Given the description of an element on the screen output the (x, y) to click on. 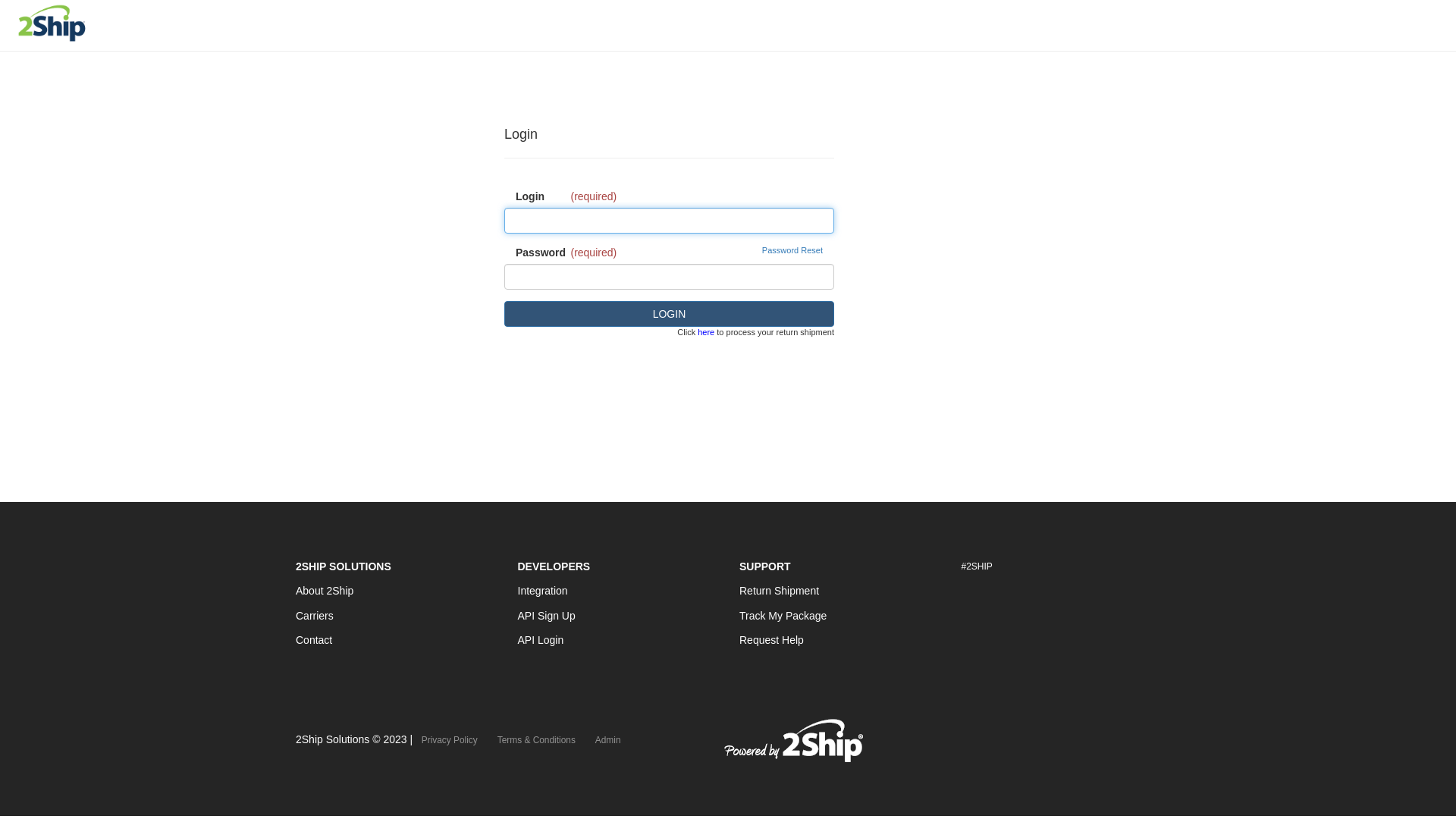
Admin Element type: text (608, 739)
Carriers Element type: text (314, 615)
API Login Element type: text (540, 639)
here Element type: text (705, 331)
Contact Element type: text (313, 639)
Password Reset Element type: text (792, 250)
Request Help Element type: text (771, 639)
Integration Element type: text (542, 590)
Track My Package Element type: text (782, 615)
Terms & Conditions Element type: text (536, 739)
LOGIN Element type: text (669, 313)
API Sign Up Element type: text (545, 615)
Privacy Policy Element type: text (449, 739)
Return Shipment Element type: text (779, 590)
About 2Ship Element type: text (324, 590)
